Given the description of an element on the screen output the (x, y) to click on. 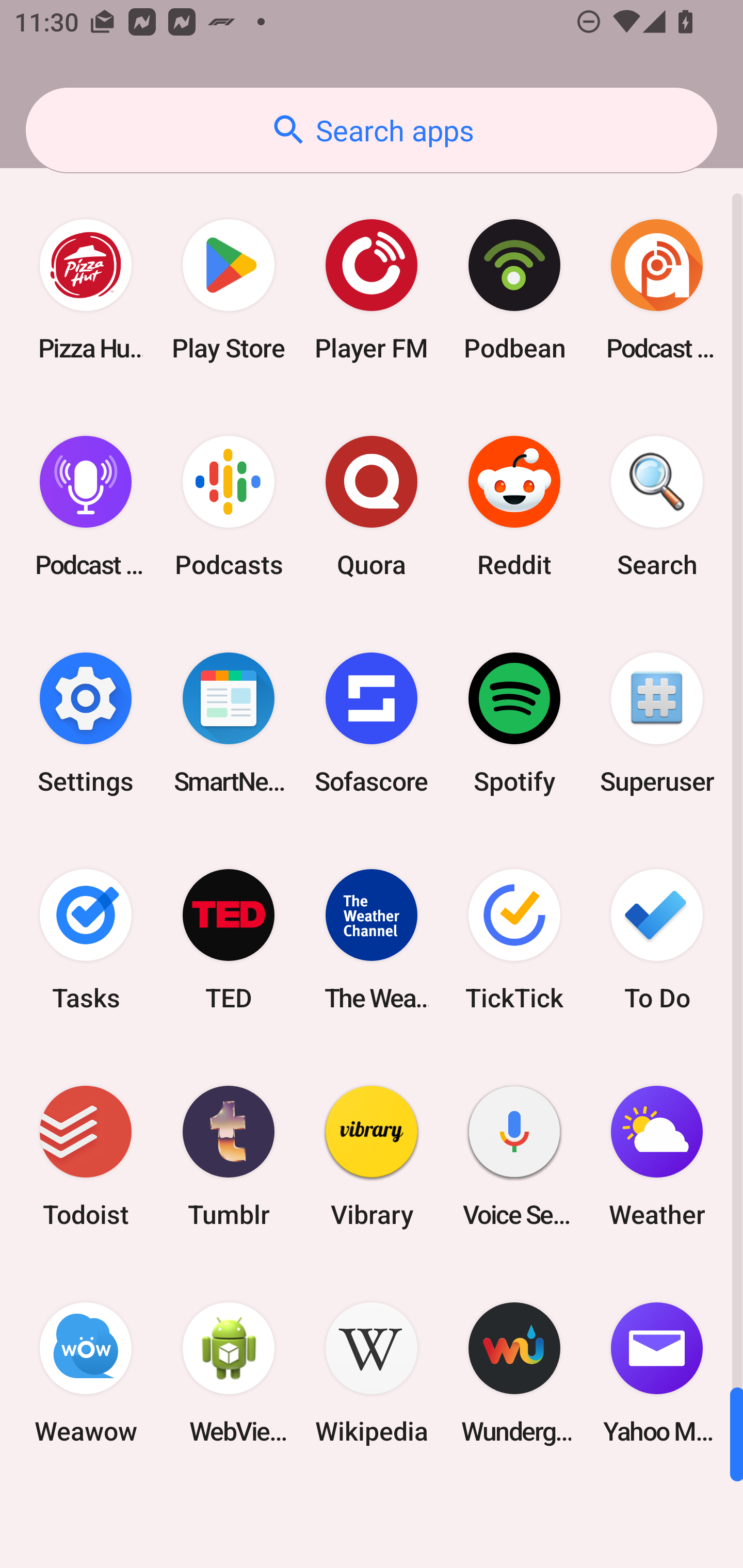
  Search apps (371, 130)
Pizza Hut HK & Macau (85, 289)
Play Store (228, 289)
Player FM (371, 289)
Podbean (514, 289)
Podcast Addict (656, 289)
Podcast Player (85, 506)
Podcasts (228, 506)
Quora (371, 506)
Reddit (514, 506)
Search (656, 506)
Settings (85, 722)
SmartNews (228, 722)
Sofascore (371, 722)
Spotify (514, 722)
Superuser (656, 722)
Tasks (85, 939)
TED (228, 939)
The Weather Channel (371, 939)
TickTick (514, 939)
To Do (656, 939)
Todoist (85, 1156)
Tumblr (228, 1156)
Vibrary (371, 1156)
Voice Search (514, 1156)
Weather (656, 1156)
Weawow (85, 1373)
WebView Browser Tester (228, 1373)
Wikipedia (371, 1373)
Wunderground (514, 1373)
Yahoo Mail (656, 1373)
